Given the description of an element on the screen output the (x, y) to click on. 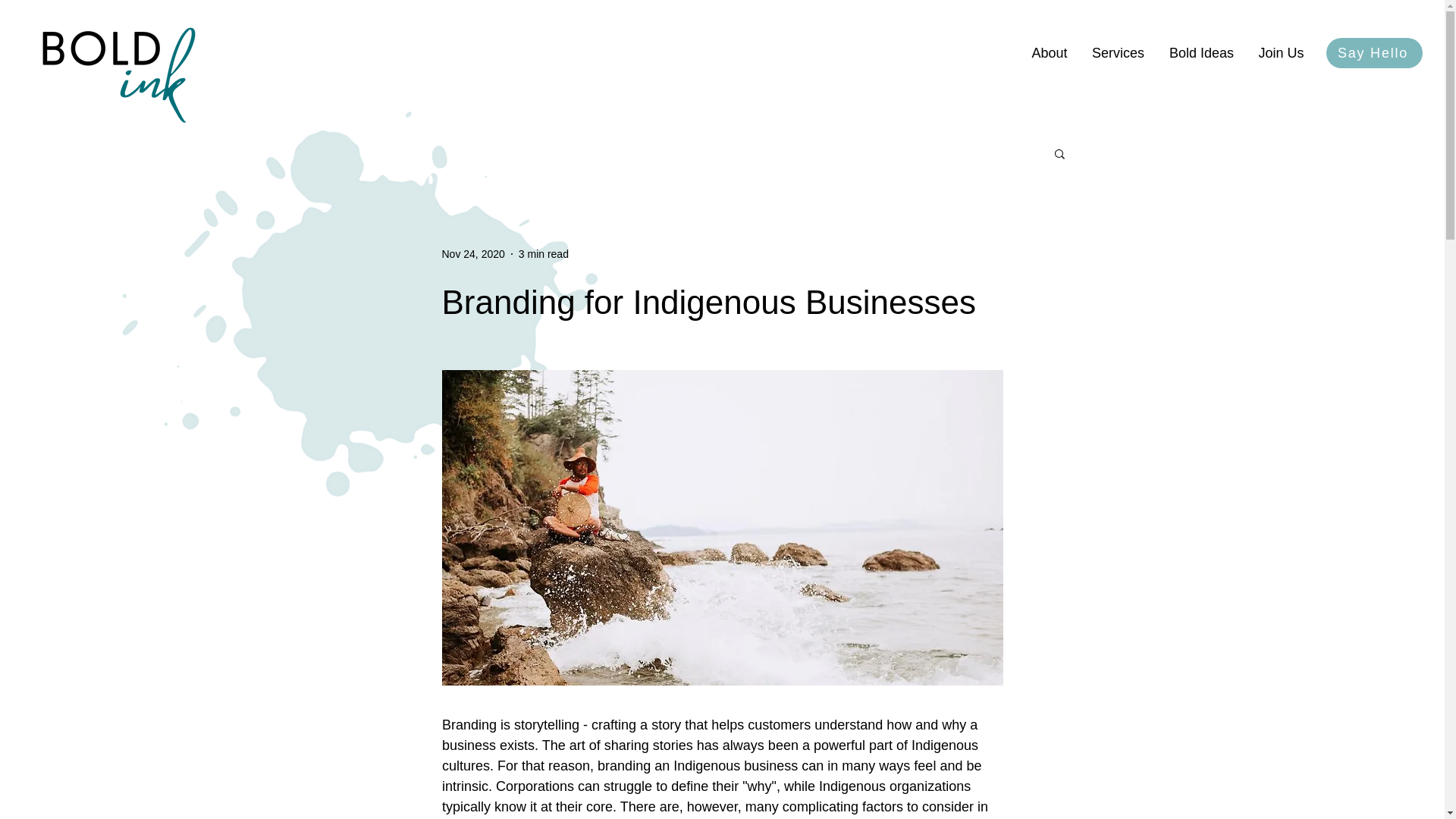
Join Us (1281, 53)
Nov 24, 2020 (472, 253)
About (1049, 53)
3 min read (543, 253)
Say Hello (1374, 52)
Bold Ideas (1201, 53)
